Given the description of an element on the screen output the (x, y) to click on. 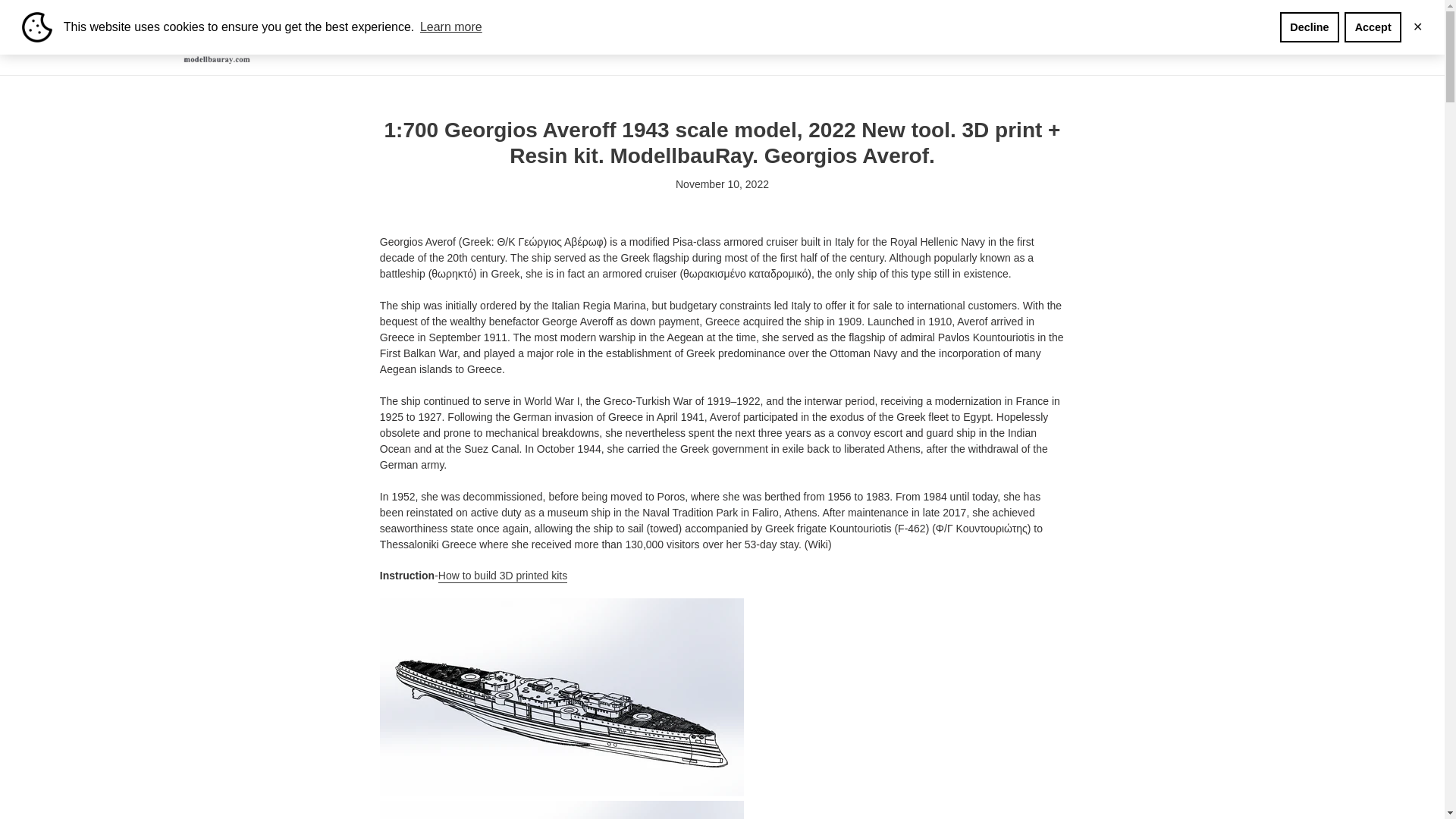
Search (1357, 36)
Plane Model (737, 37)
Tank Model (652, 37)
Accept (1371, 27)
Home (504, 37)
Ship Model (568, 37)
US Store (933, 37)
Kit Review (816, 37)
Cart (1387, 37)
How to (876, 37)
Learn more (450, 26)
Decline (1309, 27)
